Given the description of an element on the screen output the (x, y) to click on. 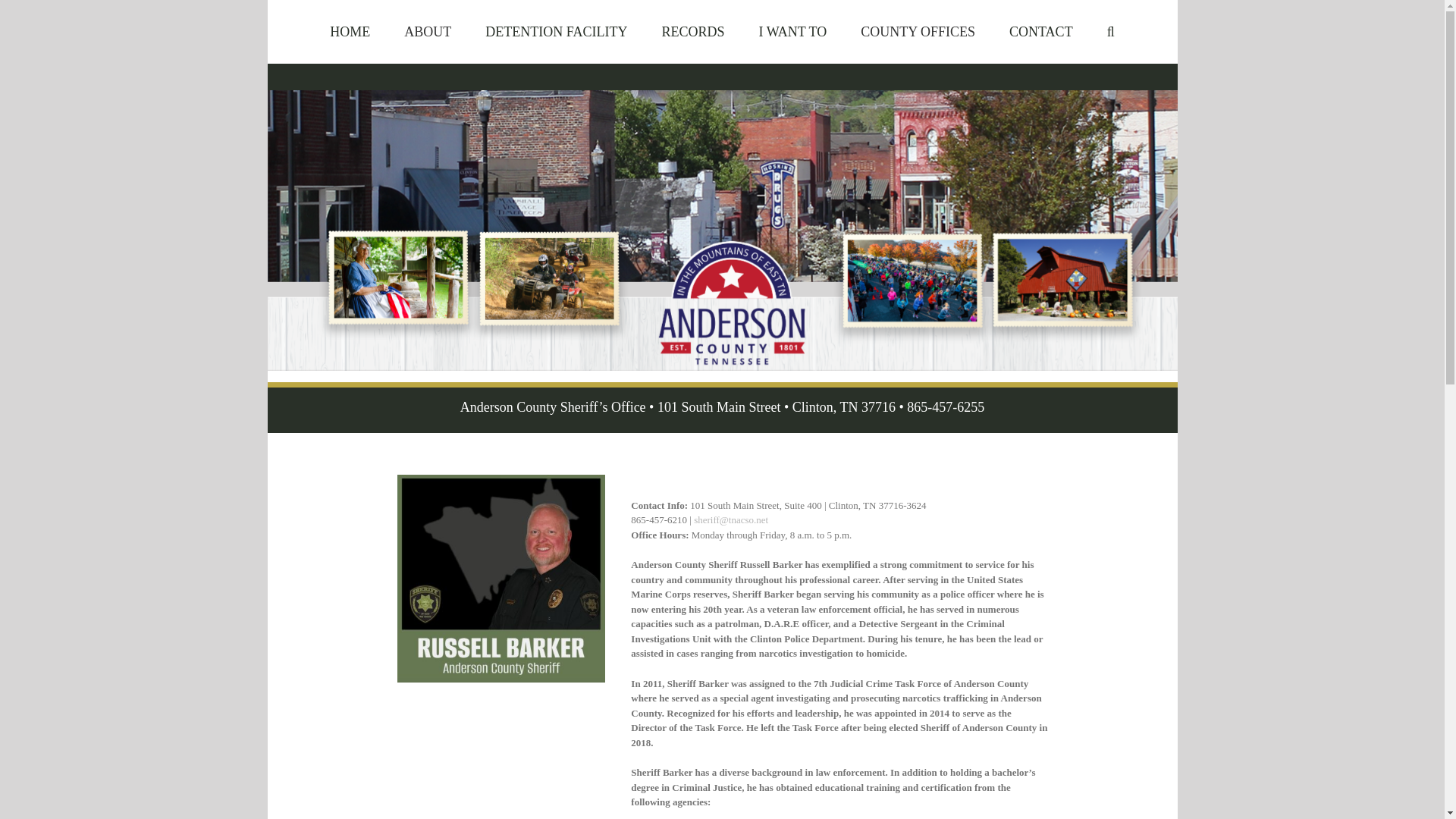
COUNTY OFFICES (917, 31)
I WANT TO (792, 31)
DETENTION FACILITY (555, 31)
RECORDS (692, 31)
Russell Barker Sheriff (501, 579)
